Given the description of an element on the screen output the (x, y) to click on. 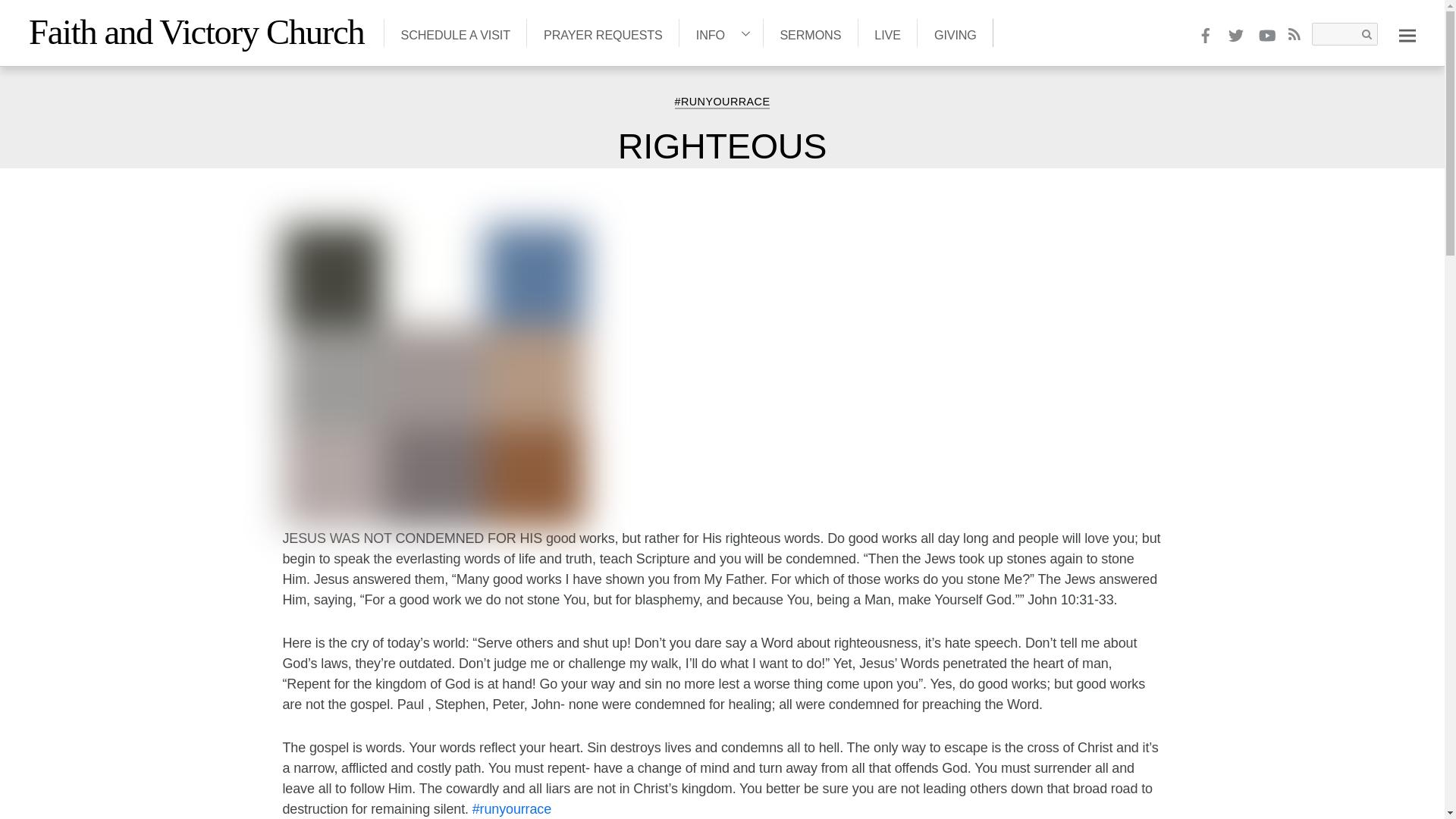
Search (1344, 33)
Faith and Victory Church (196, 31)
SCHEDULE A VISIT (454, 31)
PRAYER REQUESTS (601, 31)
INFO (720, 31)
RIGHTEOUS (722, 146)
SERMONS (809, 31)
LIVE (887, 31)
Faith and Victory Church (196, 31)
GIVING (954, 31)
